Given the description of an element on the screen output the (x, y) to click on. 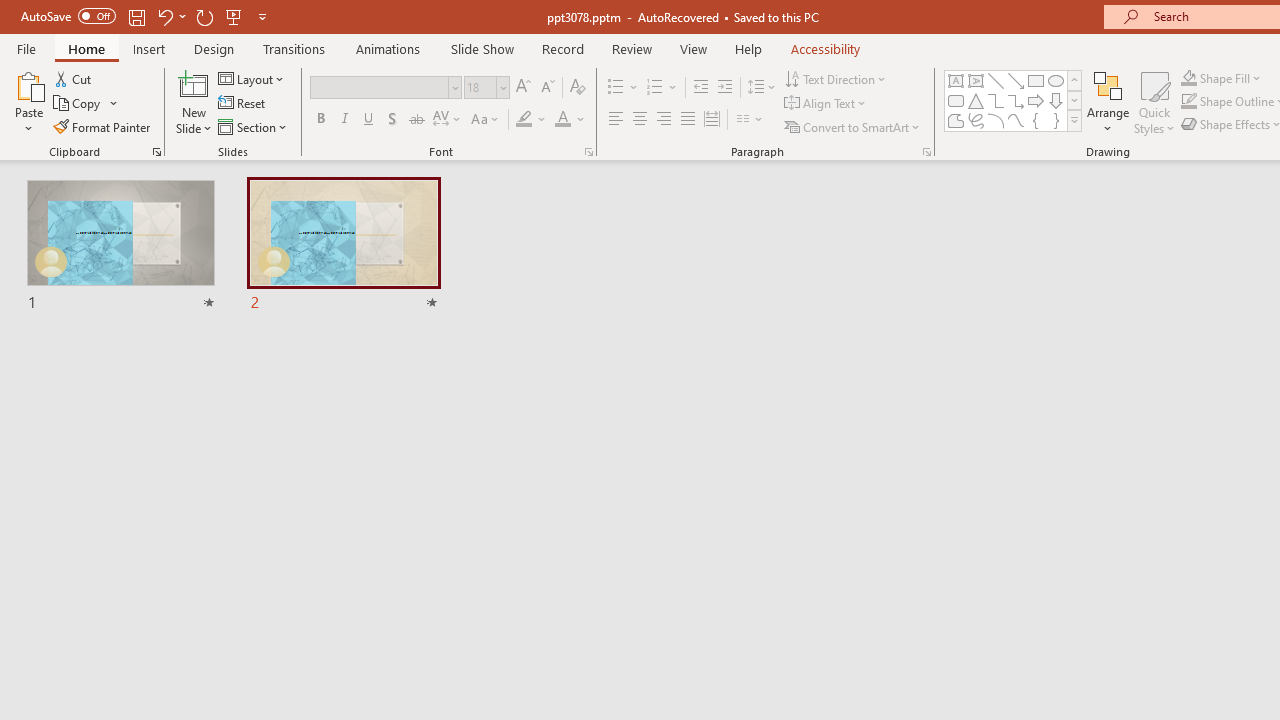
Character Spacing (447, 119)
Redo (204, 15)
Strikethrough (416, 119)
Shape Outline Green, Accent 1 (1188, 101)
Right Brace (1055, 120)
Copy (85, 103)
Distributed (712, 119)
Numbering (654, 87)
Arrow: Down (1055, 100)
Copy (78, 103)
Row Down (1074, 100)
New Slide (193, 84)
Row up (1074, 79)
Text Highlight Color (531, 119)
Bullets (623, 87)
